Given the description of an element on the screen output the (x, y) to click on. 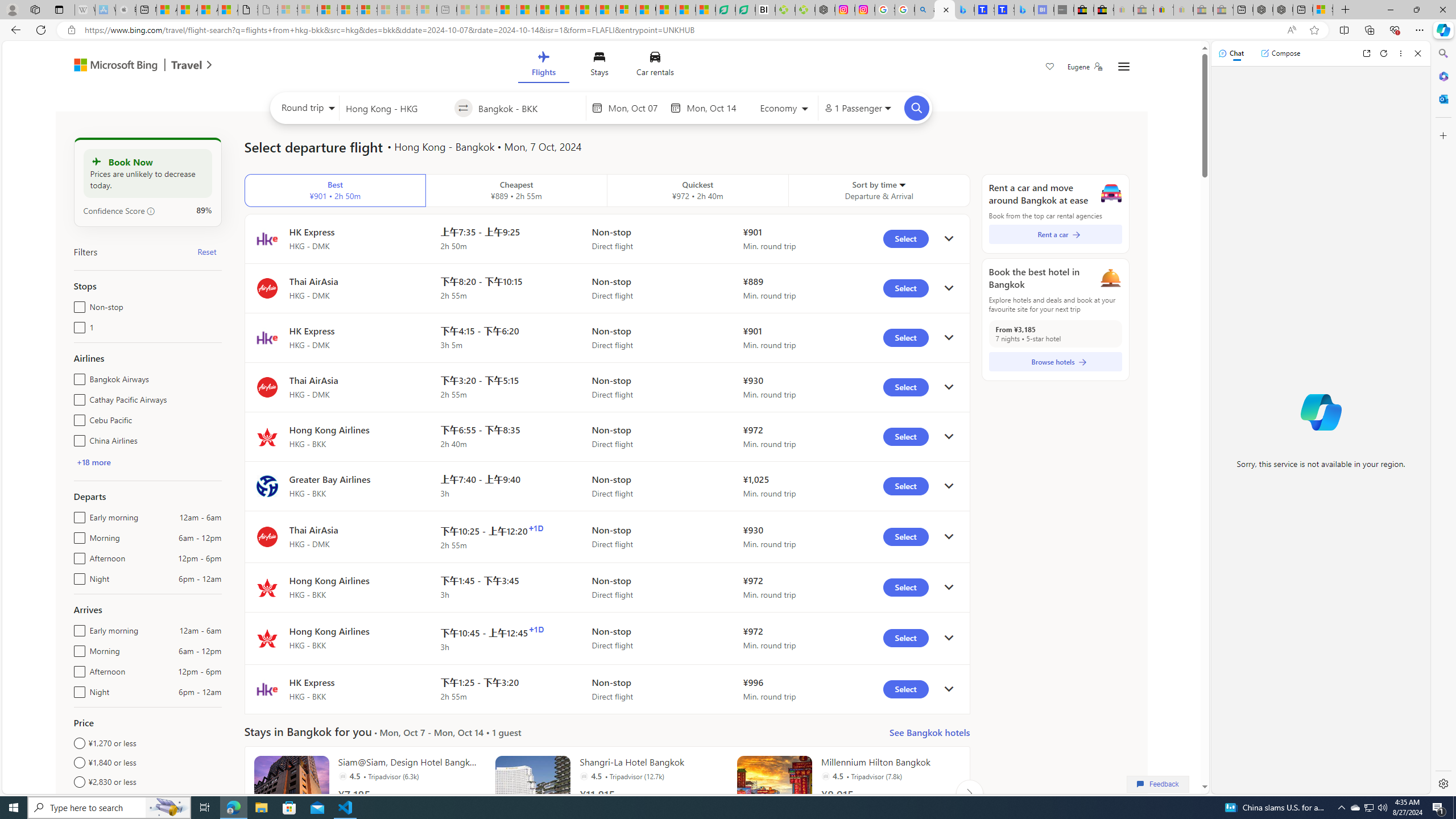
1 (76, 325)
Foo BAR | Trusted Community Engagement and Contributions (606, 9)
Travel (186, 65)
Rent a car (1055, 234)
Class: msft-travel-logo (186, 64)
Payments Terms of Use | eBay.com - Sleeping (1183, 9)
